Given the description of an element on the screen output the (x, y) to click on. 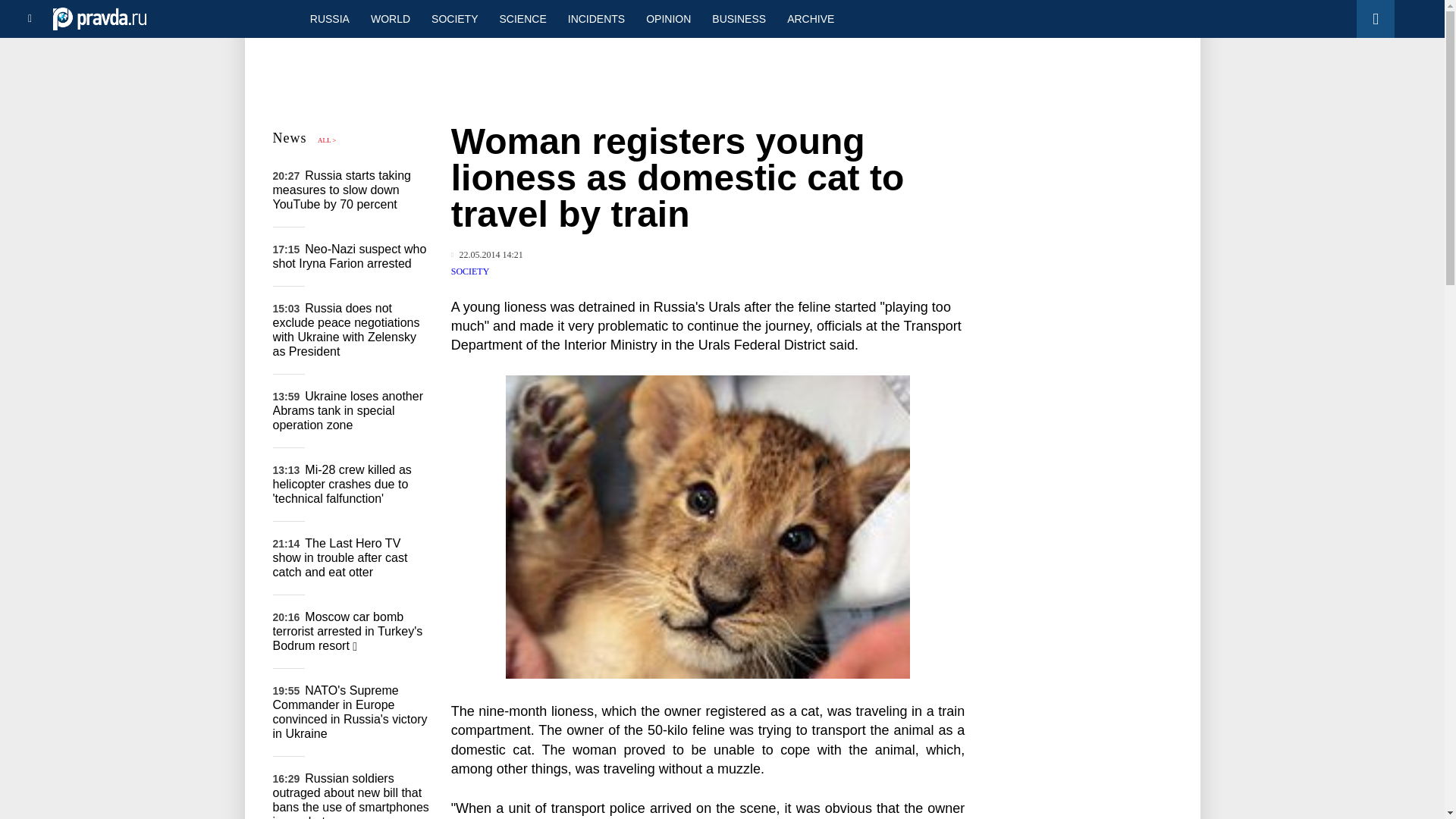
OPINION (667, 18)
SCIENCE (523, 18)
SOCIETY (453, 18)
RUSSIA (329, 18)
Neo-Nazi suspect who shot Iryna Farion arrested (349, 256)
Moscow car bomb terrorist arrested in Turkey's Bodrum resort (348, 630)
WORLD (389, 18)
SOCIETY (470, 271)
Published (486, 255)
Ukraine loses another Abrams tank in special operation zone (348, 410)
